Given the description of an element on the screen output the (x, y) to click on. 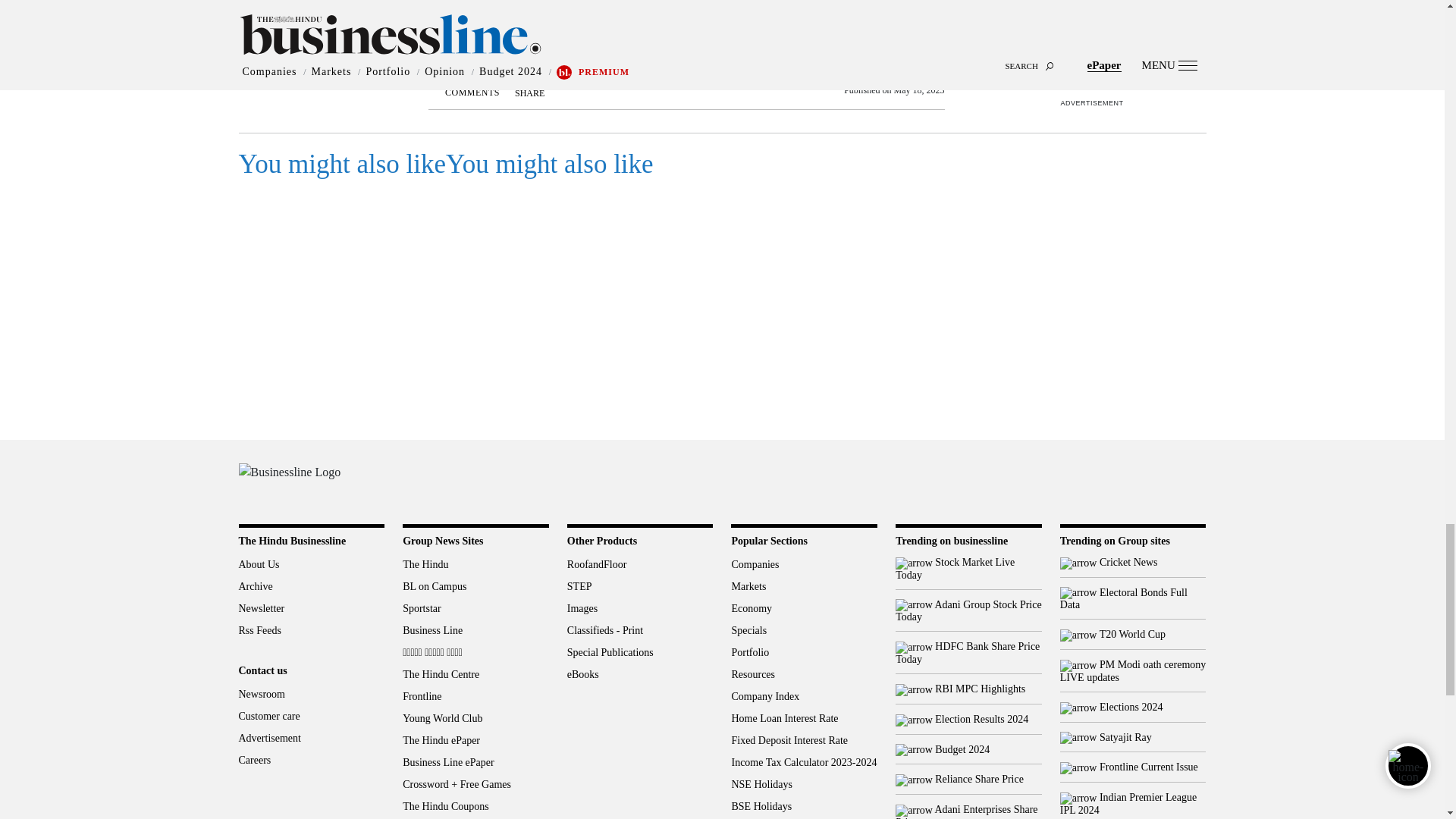
Google Play (1130, 480)
